Given the description of an element on the screen output the (x, y) to click on. 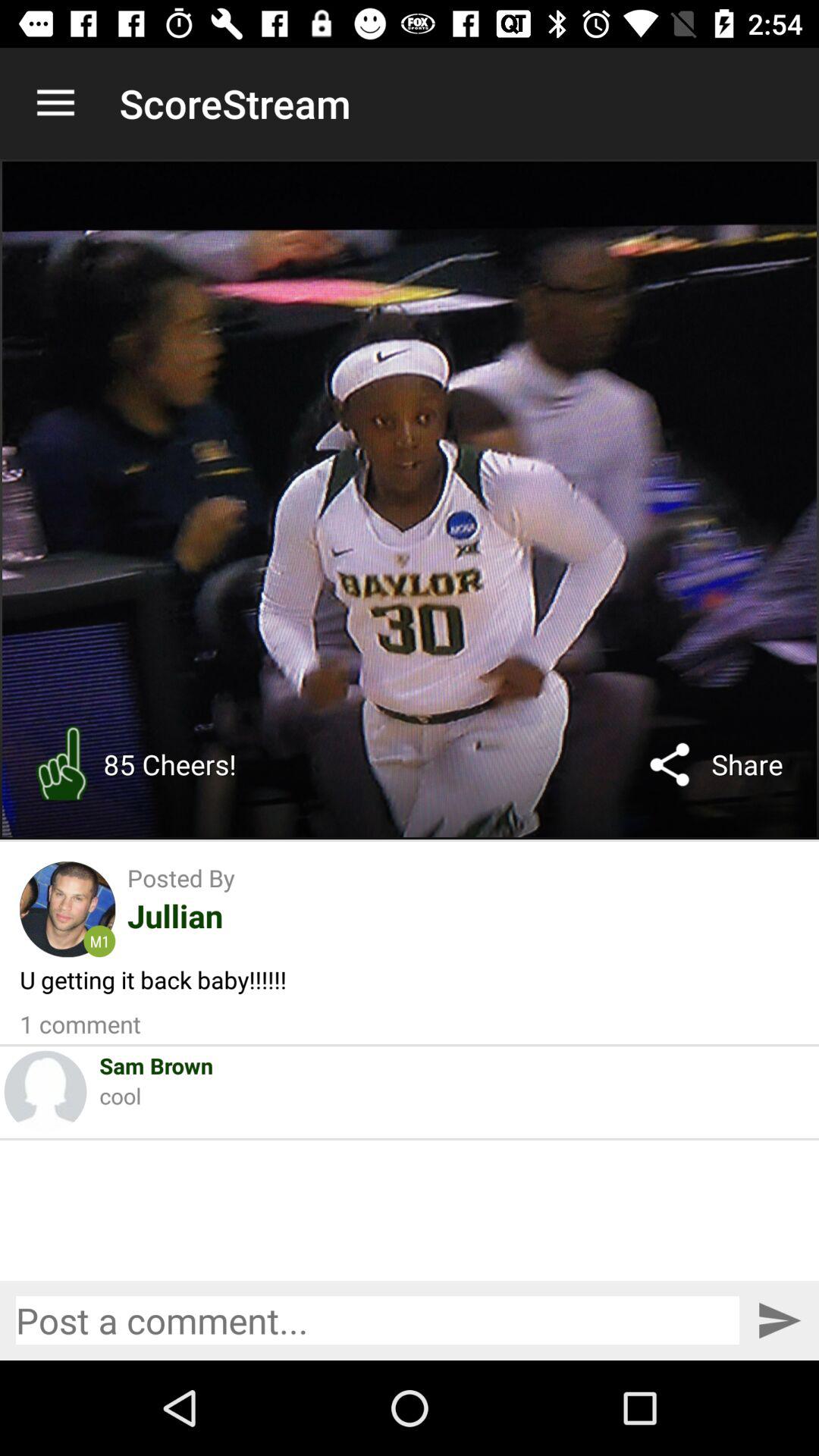
click the icon next to the share icon (669, 764)
